Given the description of an element on the screen output the (x, y) to click on. 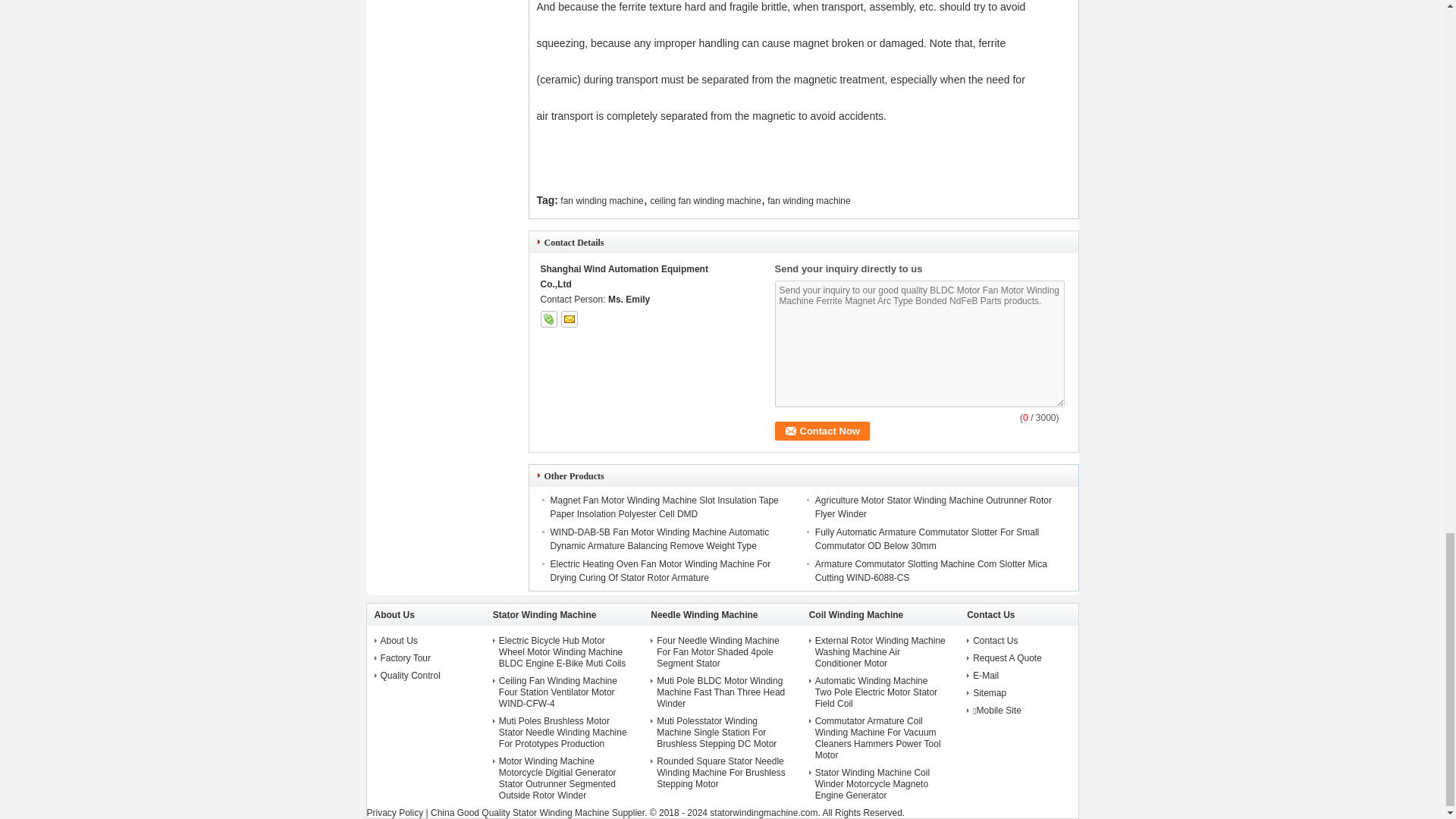
Contact Now (821, 430)
